Given the description of an element on the screen output the (x, y) to click on. 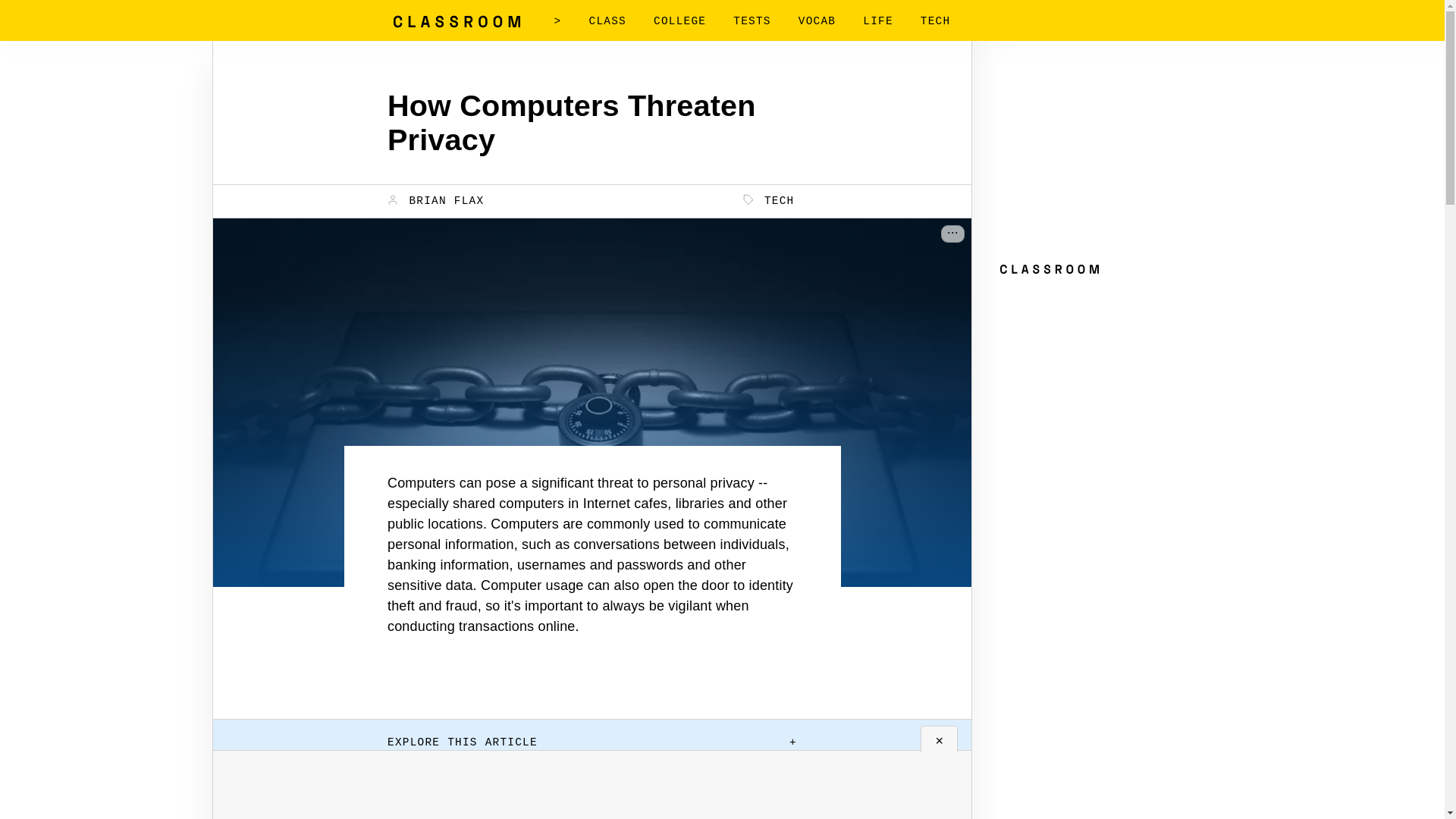
TECH (935, 21)
CLASS (607, 21)
COLLEGE (679, 21)
LIFE (878, 21)
VOCAB (816, 21)
TESTS (751, 21)
TECH (768, 200)
